Given the description of an element on the screen output the (x, y) to click on. 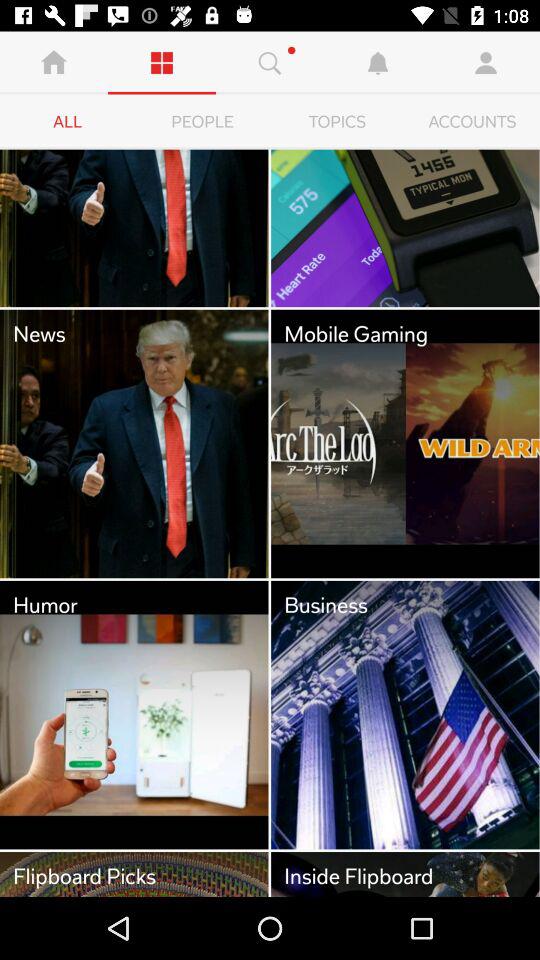
choose item to the right of the people (337, 121)
